Given the description of an element on the screen output the (x, y) to click on. 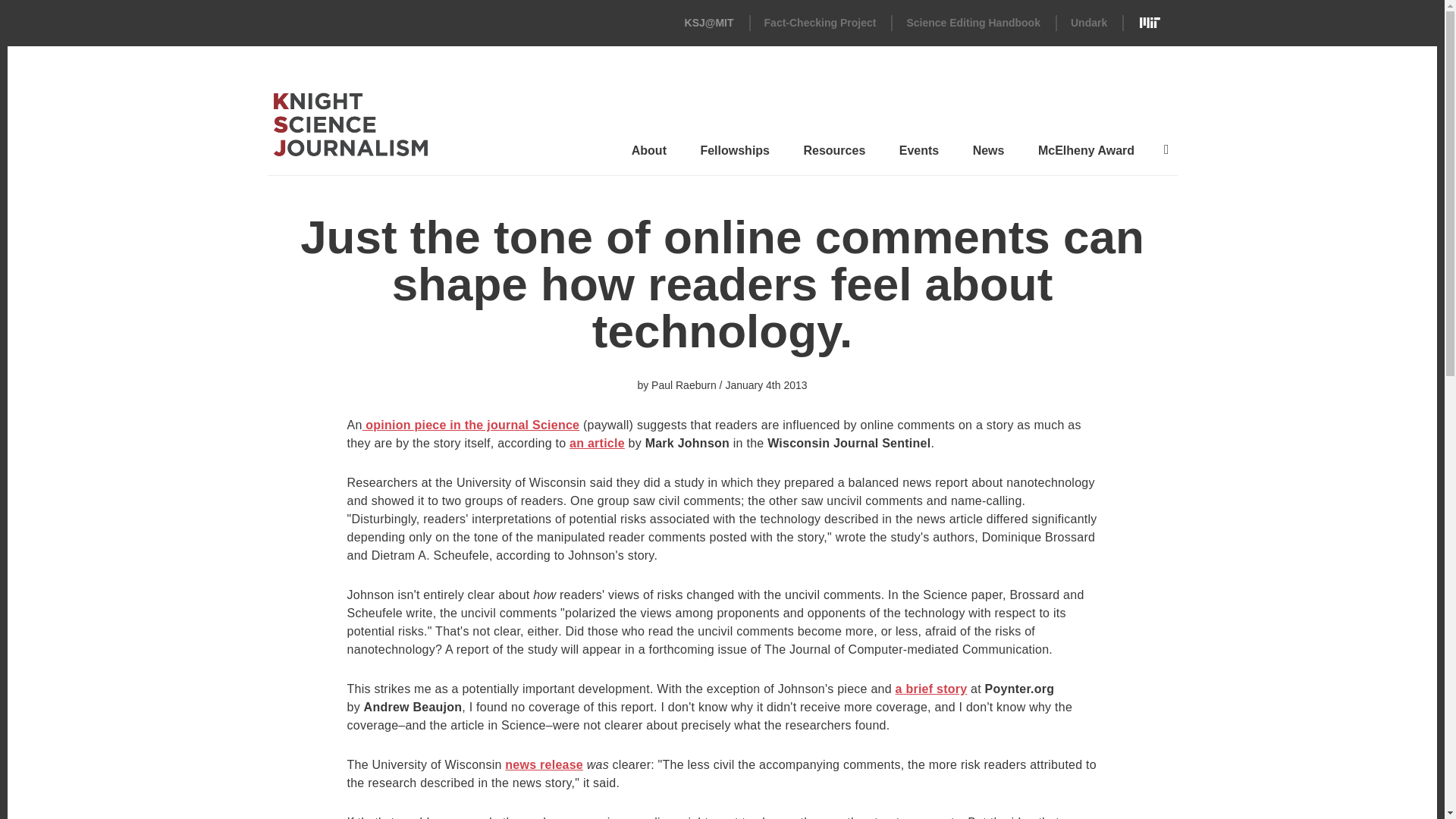
Undark (1088, 22)
News (988, 154)
Undark (1088, 22)
an article (596, 442)
About (648, 154)
news release (544, 764)
McElheny Award (1086, 154)
MIT (1149, 23)
Resources (833, 154)
Science Editing Handbook (973, 22)
